Given the description of an element on the screen output the (x, y) to click on. 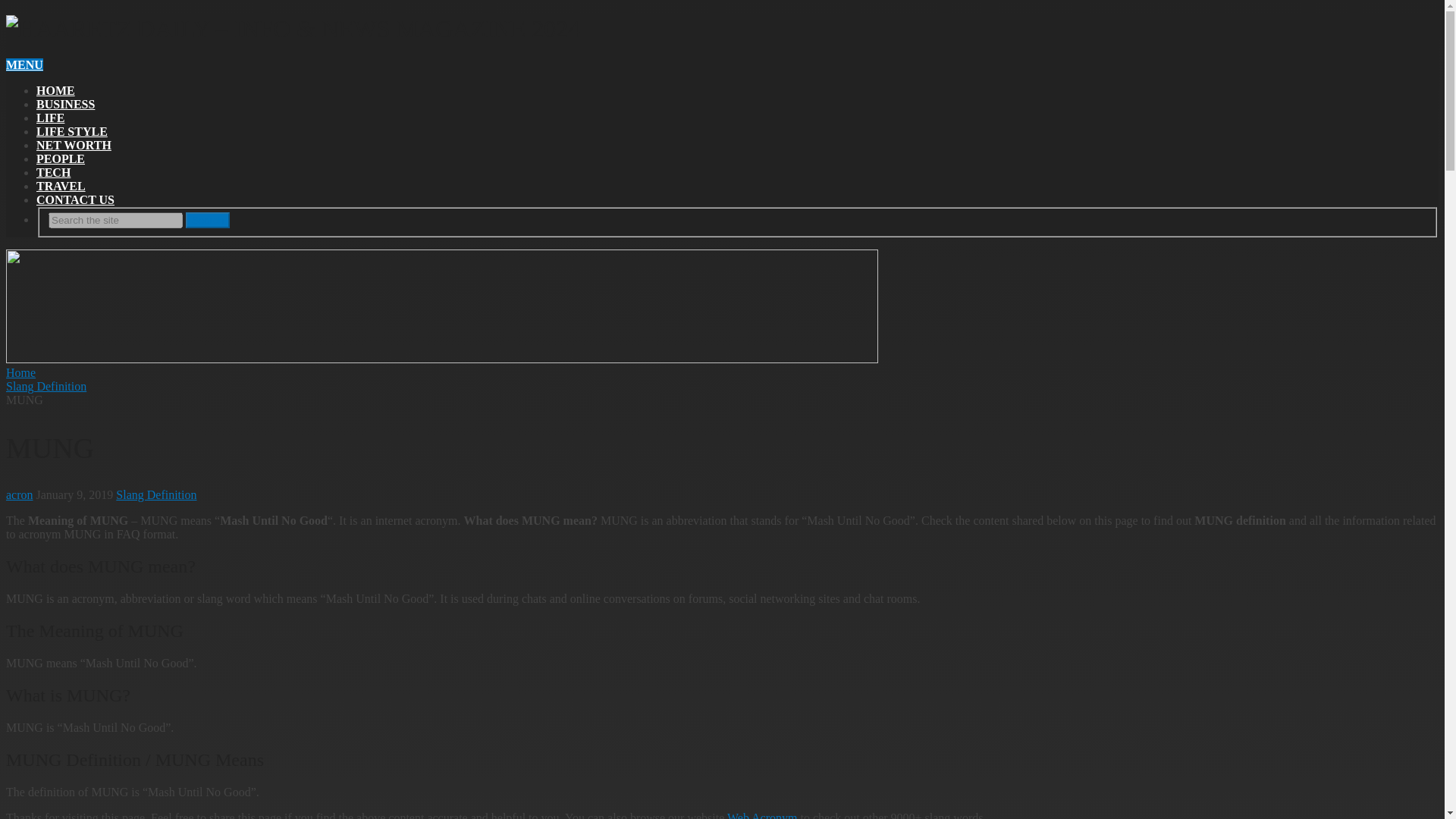
acron (19, 494)
MENU (24, 64)
Home (19, 372)
Posts by acron (19, 494)
HOME (55, 90)
Slang Definition (156, 494)
CONTACT US (75, 199)
PEOPLE (60, 158)
Slang Definition (45, 386)
LIFE (50, 117)
